Given the description of an element on the screen output the (x, y) to click on. 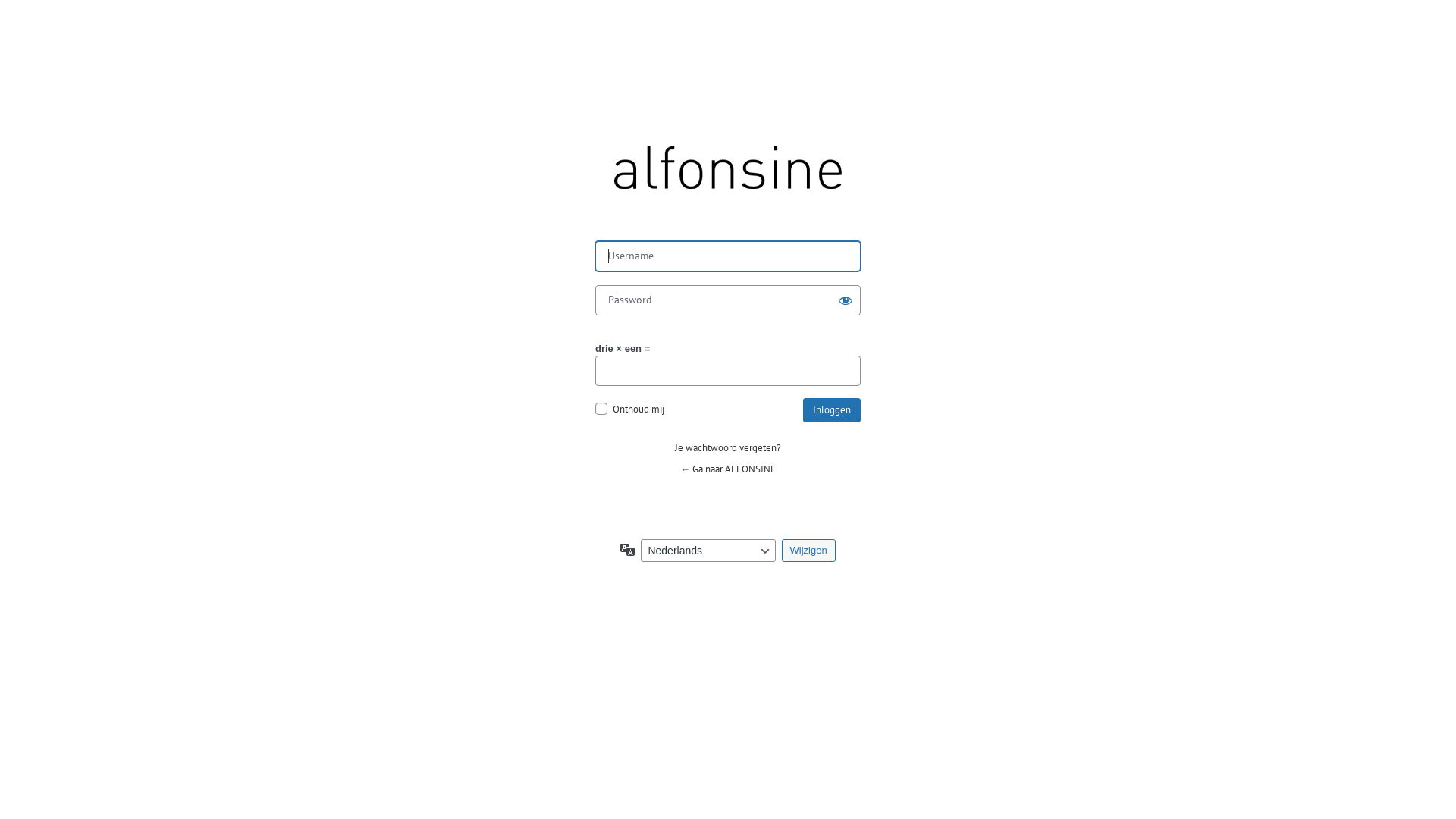
Wijzigen Element type: text (808, 550)
ALFONSINE | En nog een WordPress site Element type: text (727, 176)
Inloggen Element type: text (831, 410)
Je wachtwoord vergeten? Element type: text (727, 447)
